Given the description of an element on the screen output the (x, y) to click on. 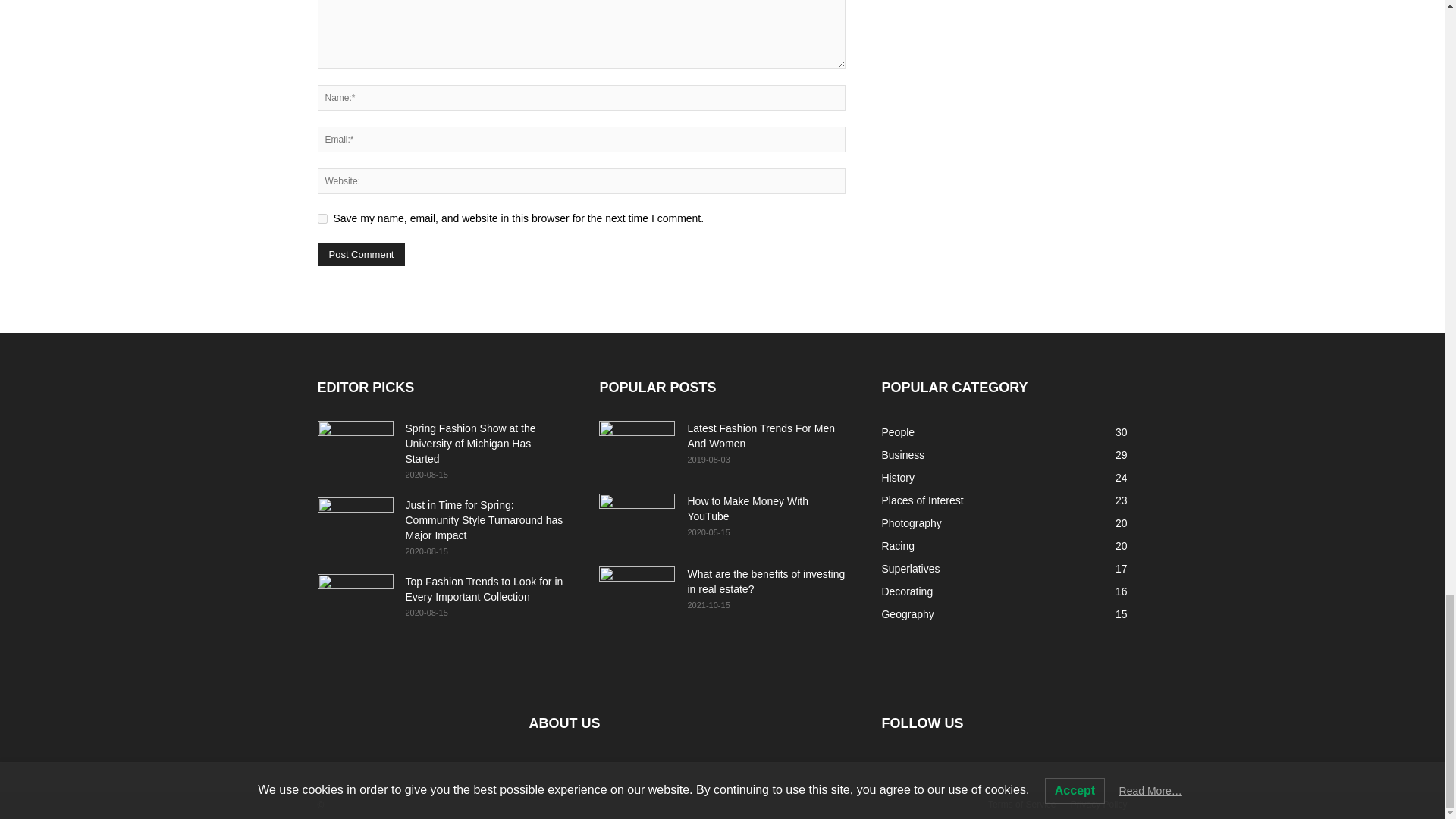
yes (321, 218)
Post Comment (360, 254)
